Given the description of an element on the screen output the (x, y) to click on. 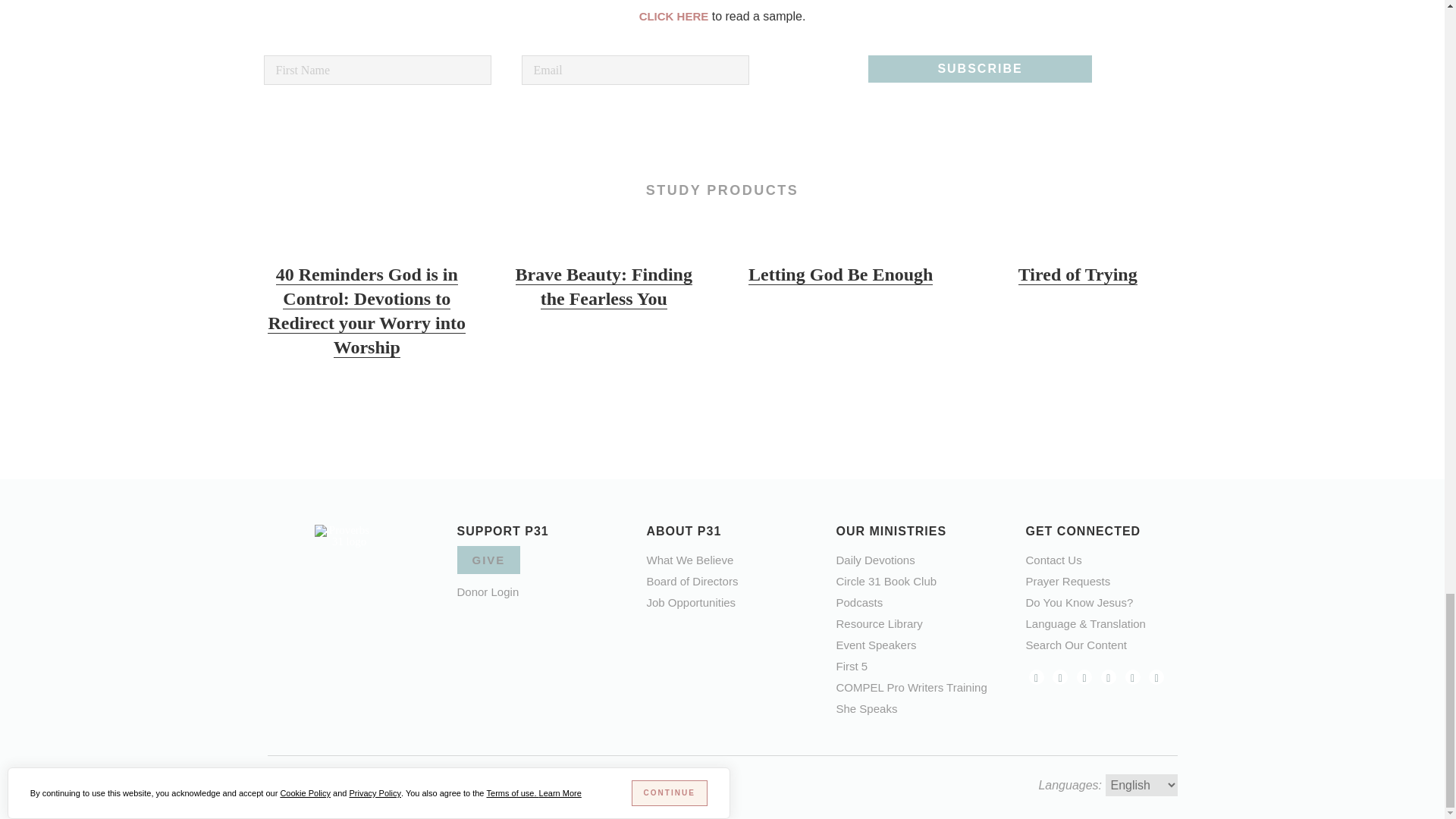
Pinterest (1108, 676)
SUBSCRIBE (979, 68)
Podast (1132, 676)
Facebook (1035, 676)
Twitter (1084, 676)
Prayer Wall (1067, 581)
Instagram (1059, 676)
Youtube (1155, 676)
